Given the description of an element on the screen output the (x, y) to click on. 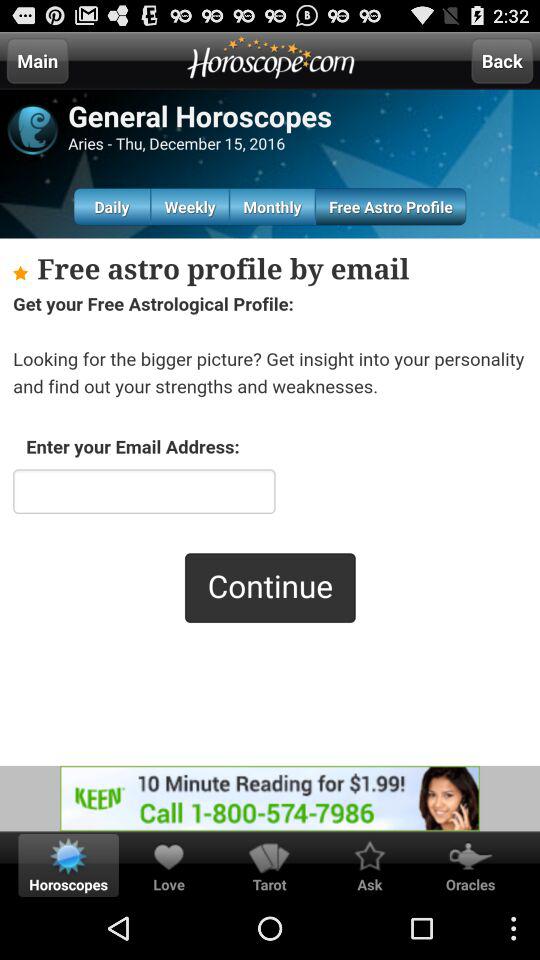
contact page (270, 501)
